Given the description of an element on the screen output the (x, y) to click on. 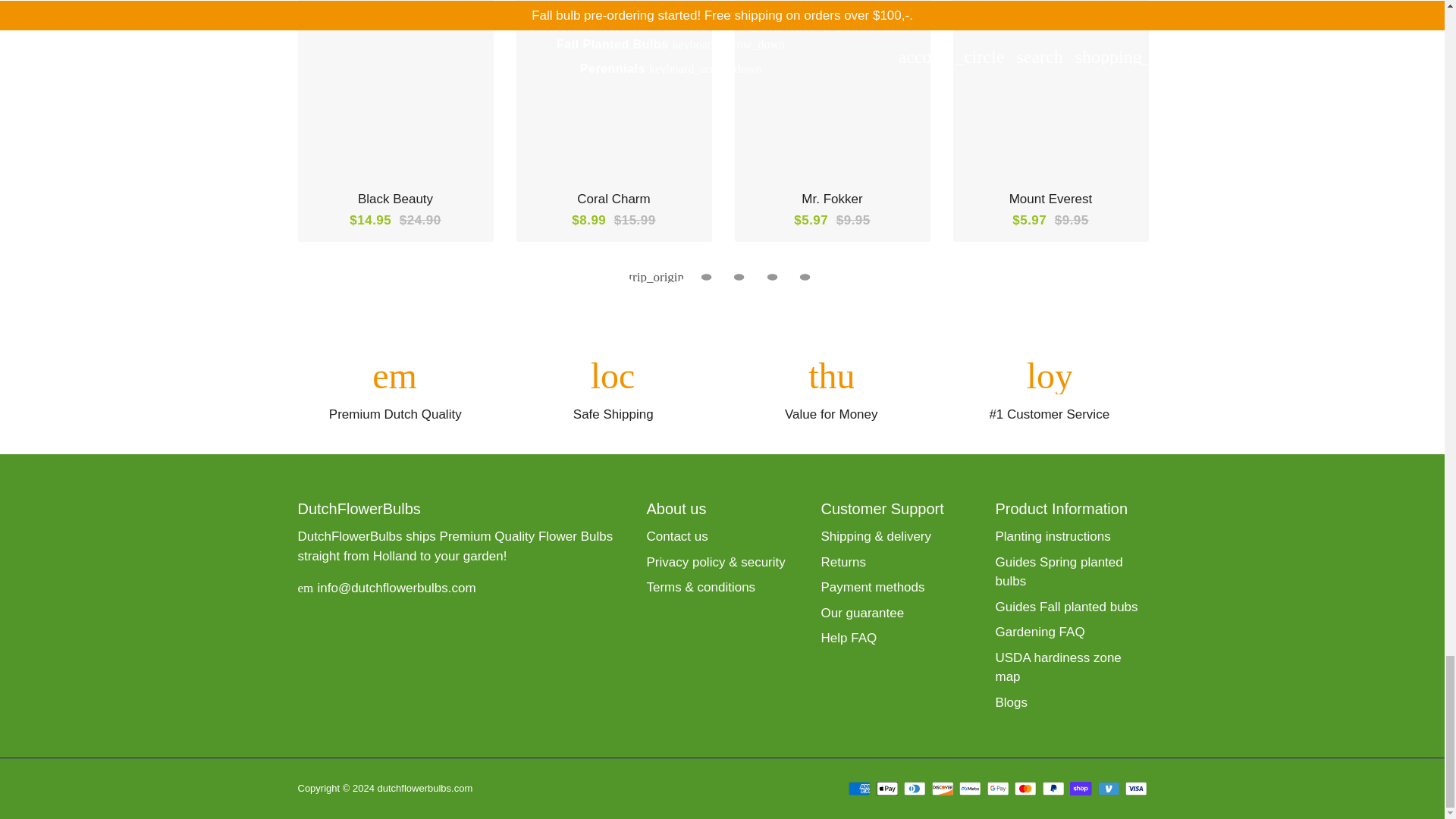
Venmo (1108, 788)
Mastercard (1025, 788)
American Express (859, 788)
Diners Club (915, 788)
Discover (941, 788)
PayPal (1052, 788)
Apple Pay (887, 788)
Visa (1136, 788)
Google Pay (998, 788)
Shop Pay (1081, 788)
